Given the description of an element on the screen output the (x, y) to click on. 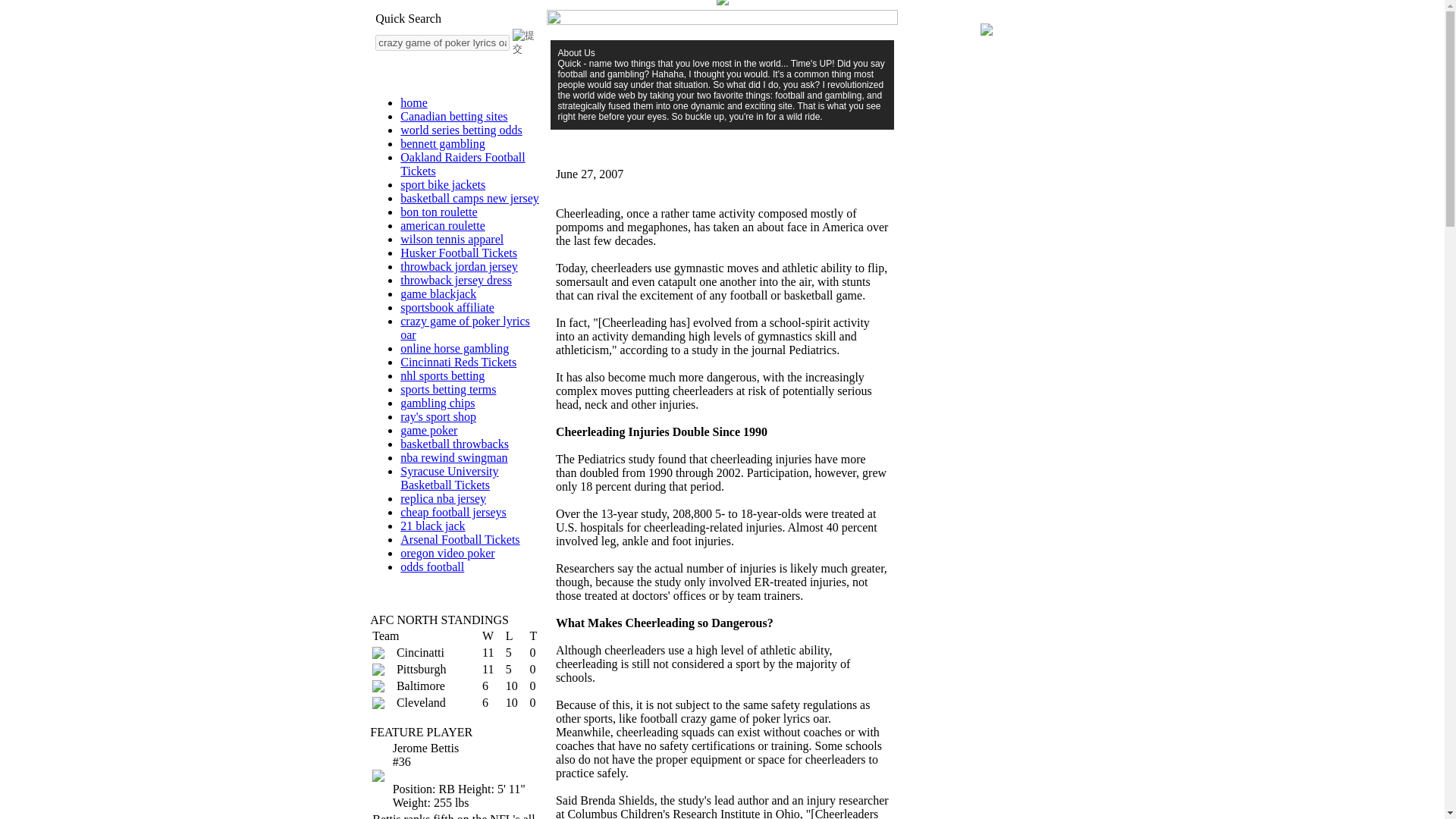
Canadian betting sites (453, 115)
gambling chips (437, 402)
throwback jersey dress (456, 279)
world series betting odds (460, 129)
nhl sports betting (442, 375)
ray's sport shop (438, 416)
Syracuse University Basketball Tickets (448, 478)
home (414, 102)
Arsenal Football Tickets (459, 539)
odds football (432, 566)
nba rewind swingman (453, 457)
american roulette (442, 225)
replica nba jersey (443, 498)
sport bike jackets (442, 184)
throwback jordan jersey (459, 266)
